Given the description of an element on the screen output the (x, y) to click on. 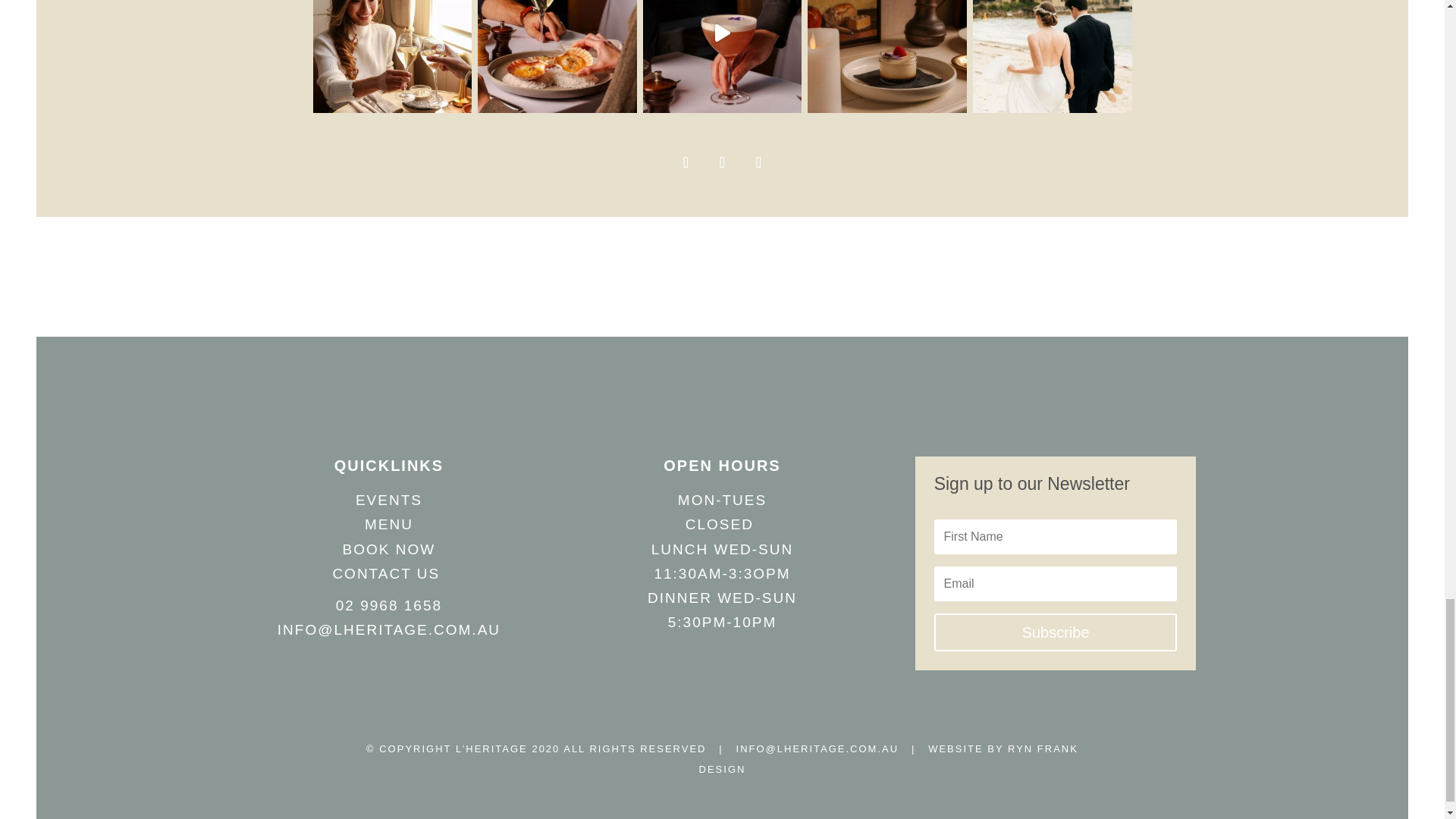
Follow on Instagram (721, 162)
Follow on Facebook (684, 162)
Follow on LinkedIn (757, 162)
